Given the description of an element on the screen output the (x, y) to click on. 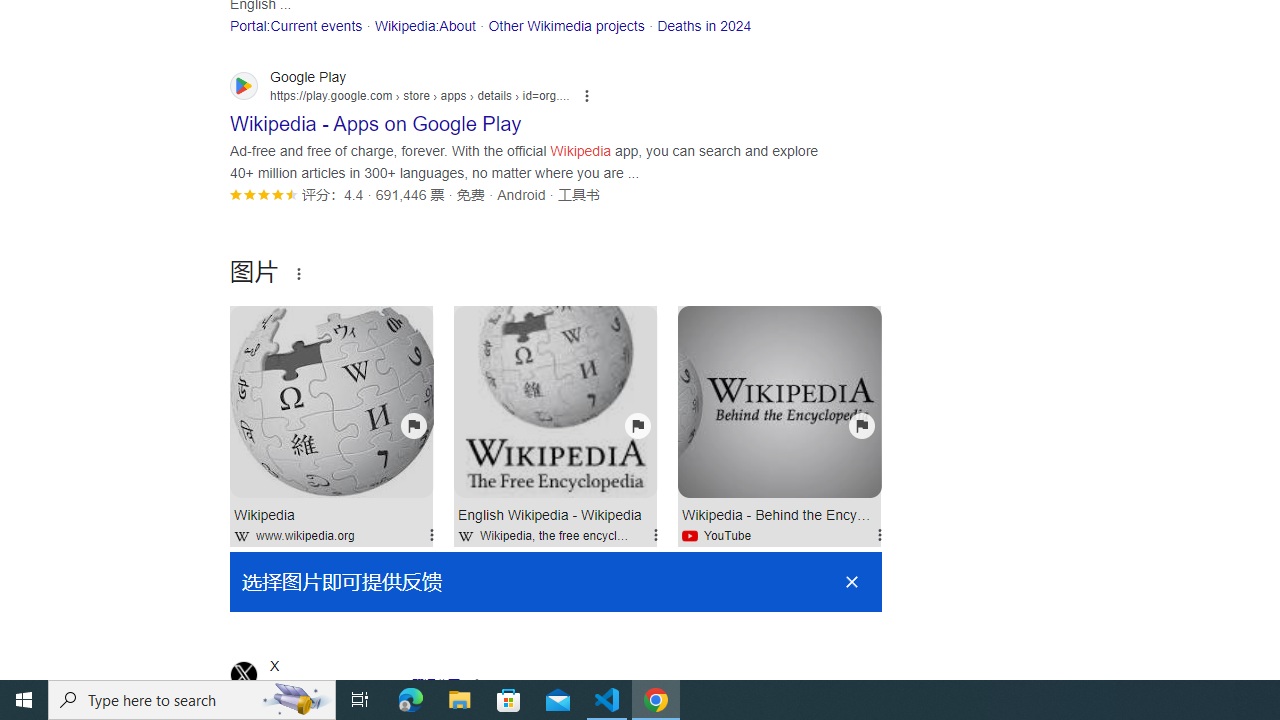
Other Wikimedia projects (566, 25)
Portal:Current events (296, 25)
Wikipedia:About (424, 25)
Deaths in 2024 (704, 25)
